Given the description of an element on the screen output the (x, y) to click on. 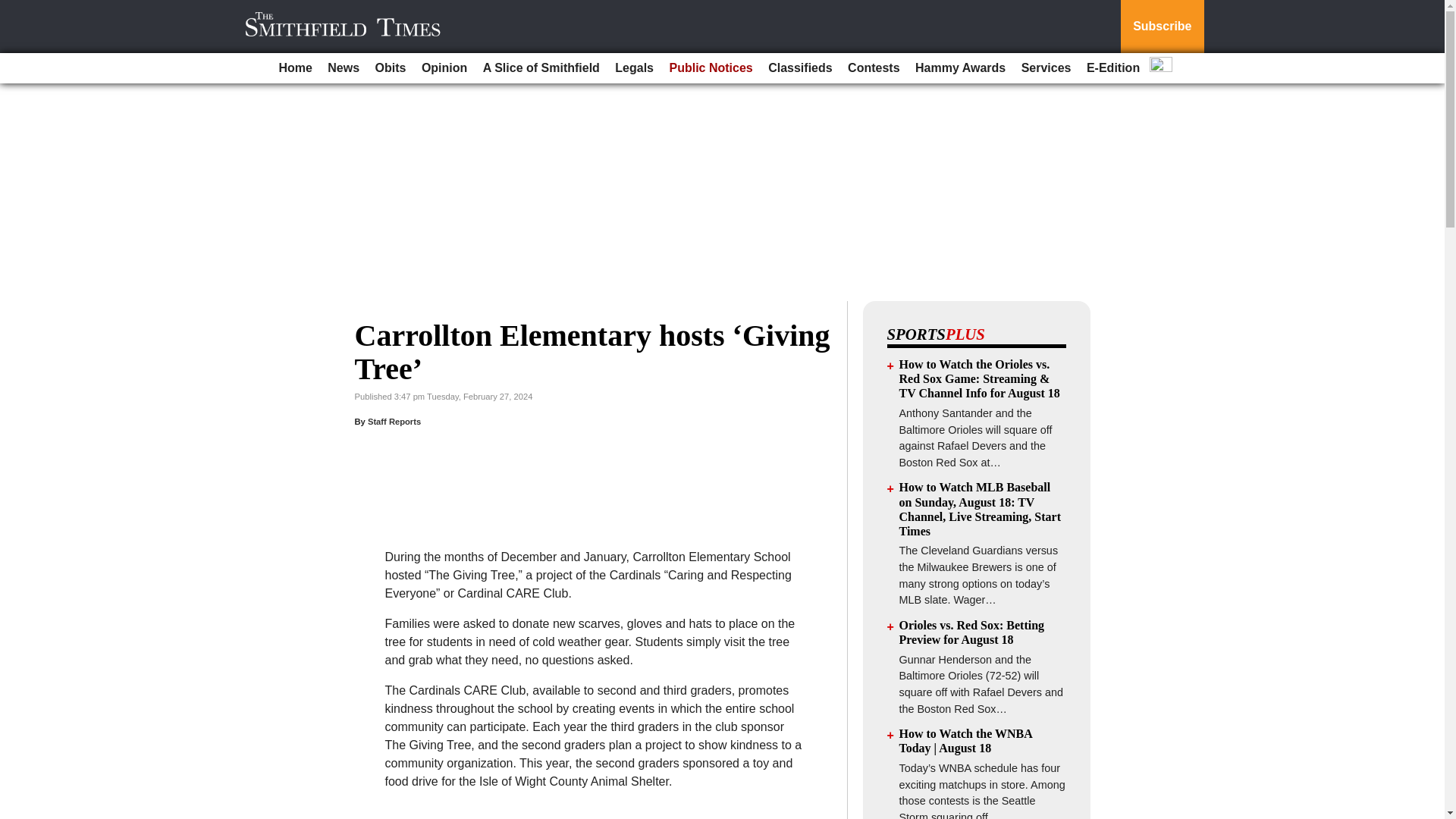
Public Notices (710, 68)
Legals (633, 68)
Obits (390, 68)
Services (1045, 68)
Opinion (443, 68)
A Slice of Smithfield (541, 68)
Classifieds (799, 68)
Contests (873, 68)
Home (294, 68)
